Given the description of an element on the screen output the (x, y) to click on. 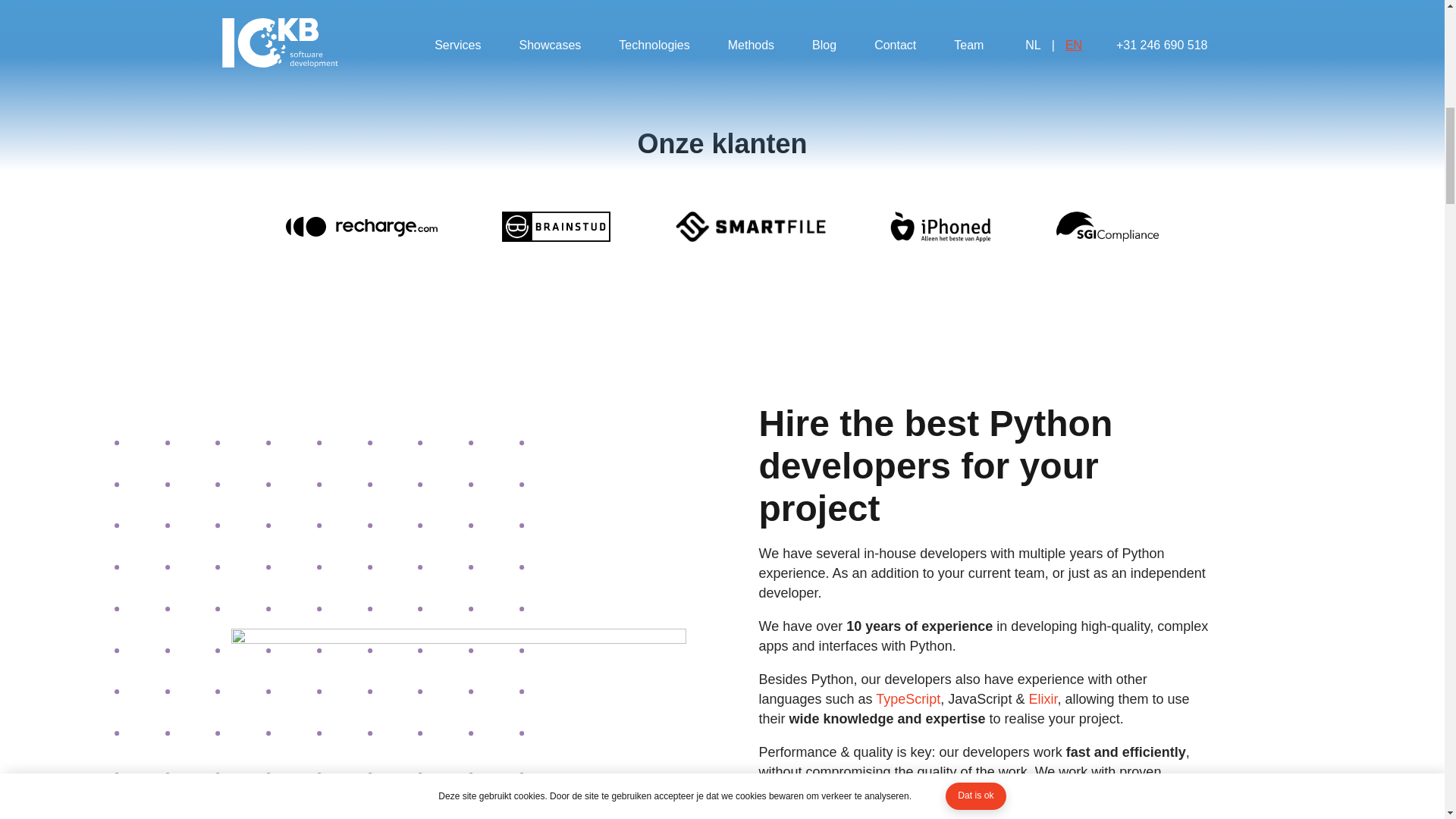
TypeScript (908, 698)
Elixir (1042, 698)
More about TypeScript (908, 698)
More about Elixir (1042, 698)
